Given the description of an element on the screen output the (x, y) to click on. 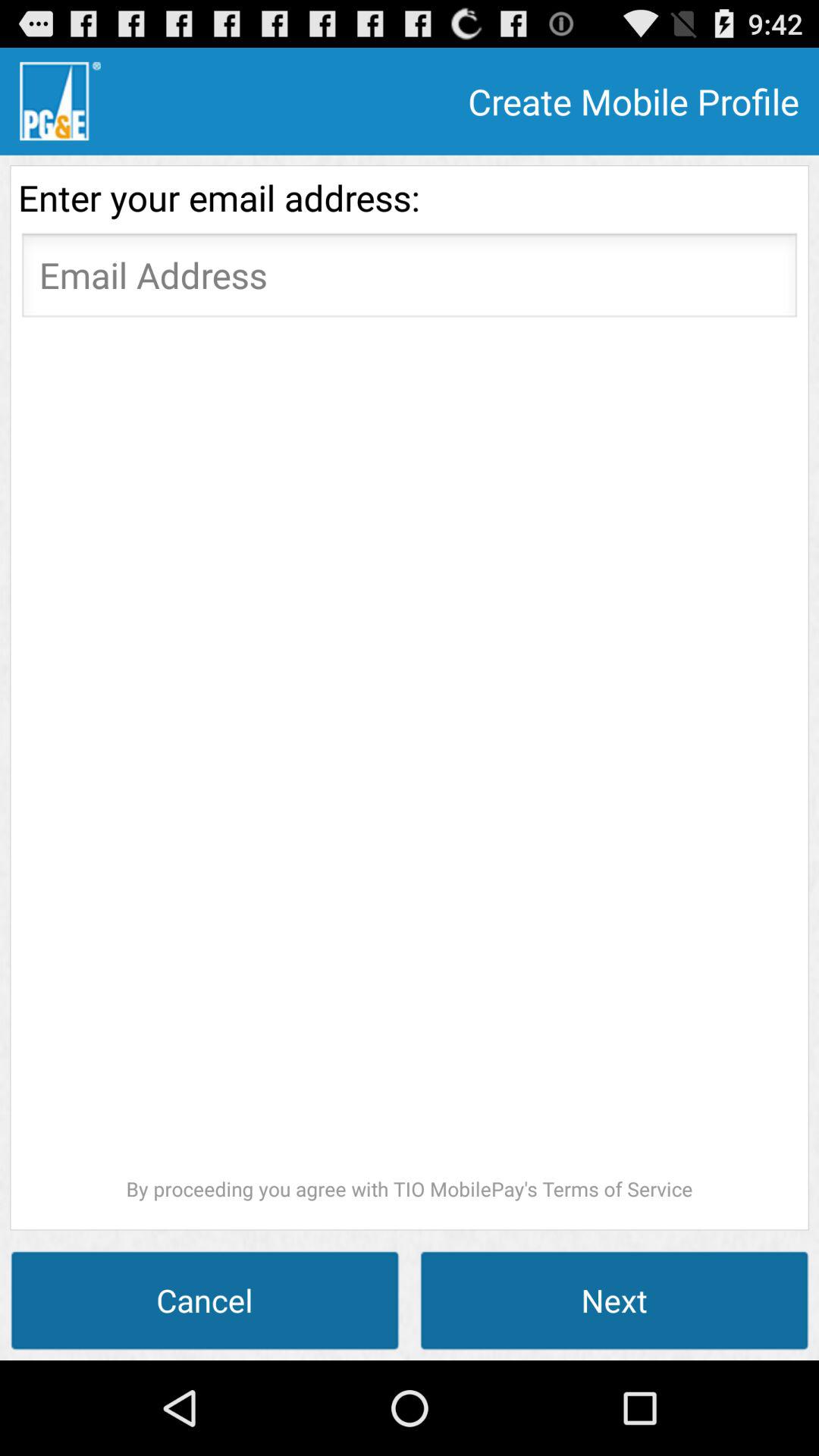
tap the item to the left of next icon (204, 1300)
